Given the description of an element on the screen output the (x, y) to click on. 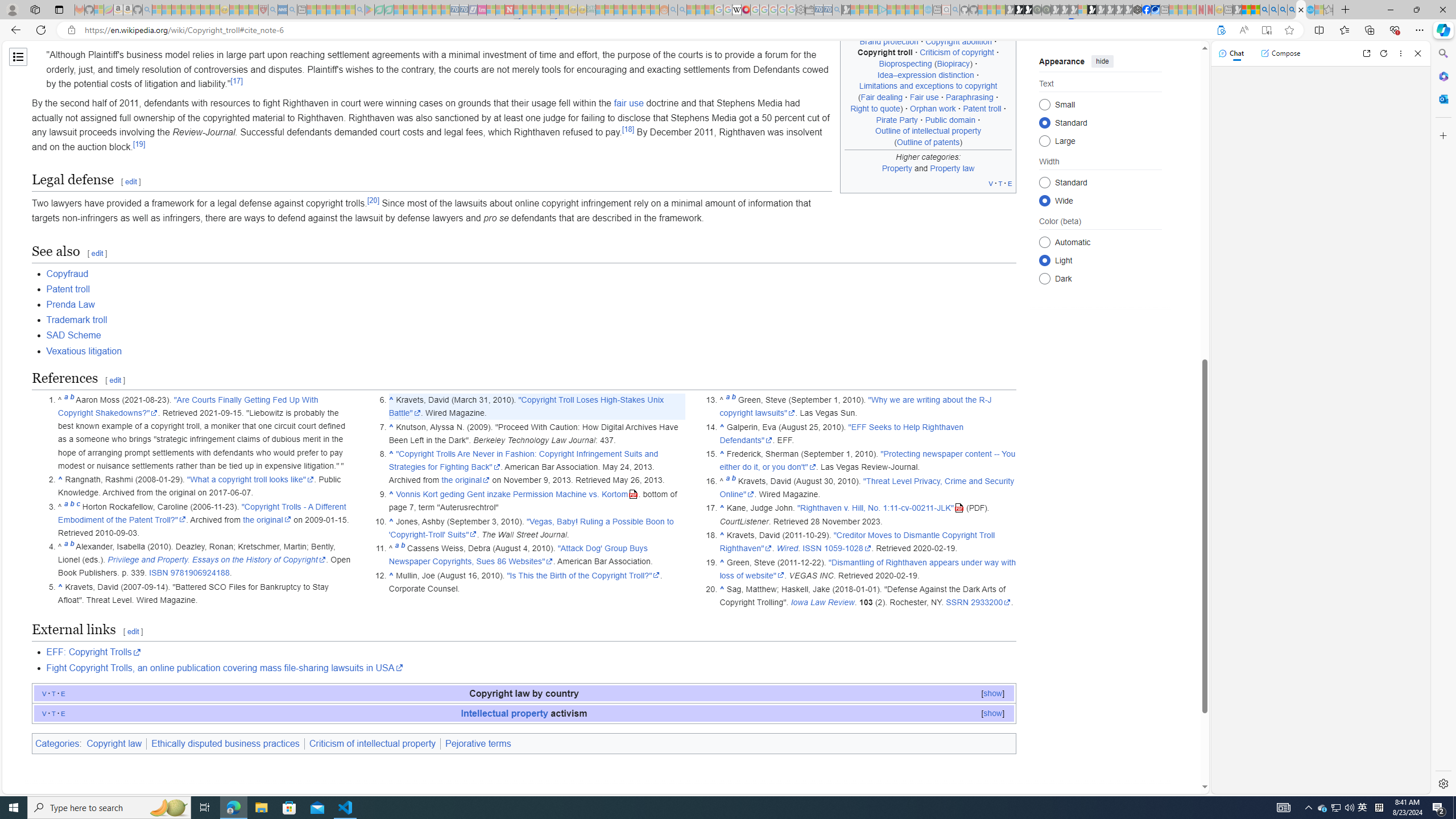
e (63, 712)
